Given the description of an element on the screen output the (x, y) to click on. 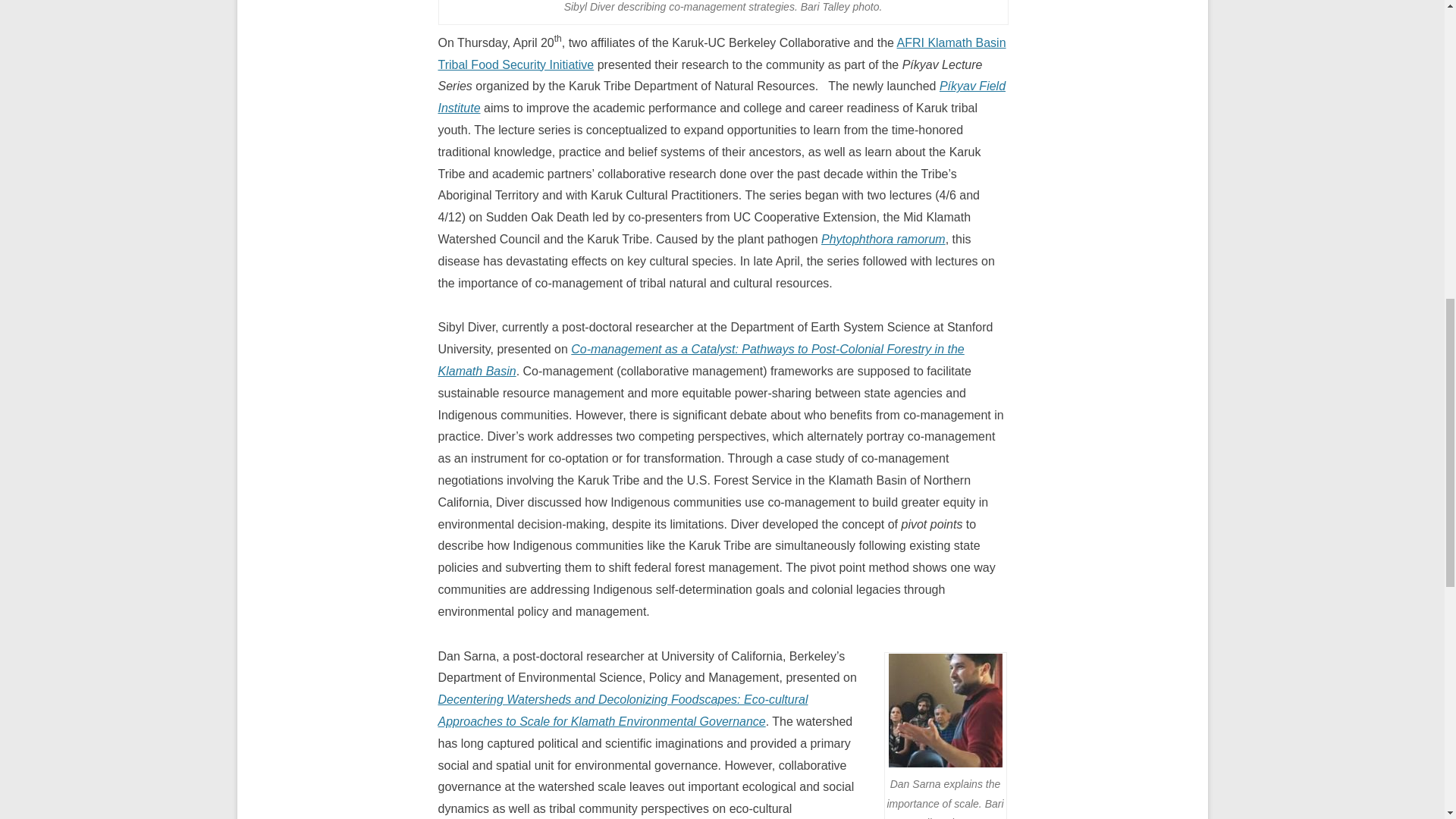
AFRI Klamath Basin Tribal Food Security Initiative (722, 53)
Phytophthora ramorum (882, 238)
